Given the description of an element on the screen output the (x, y) to click on. 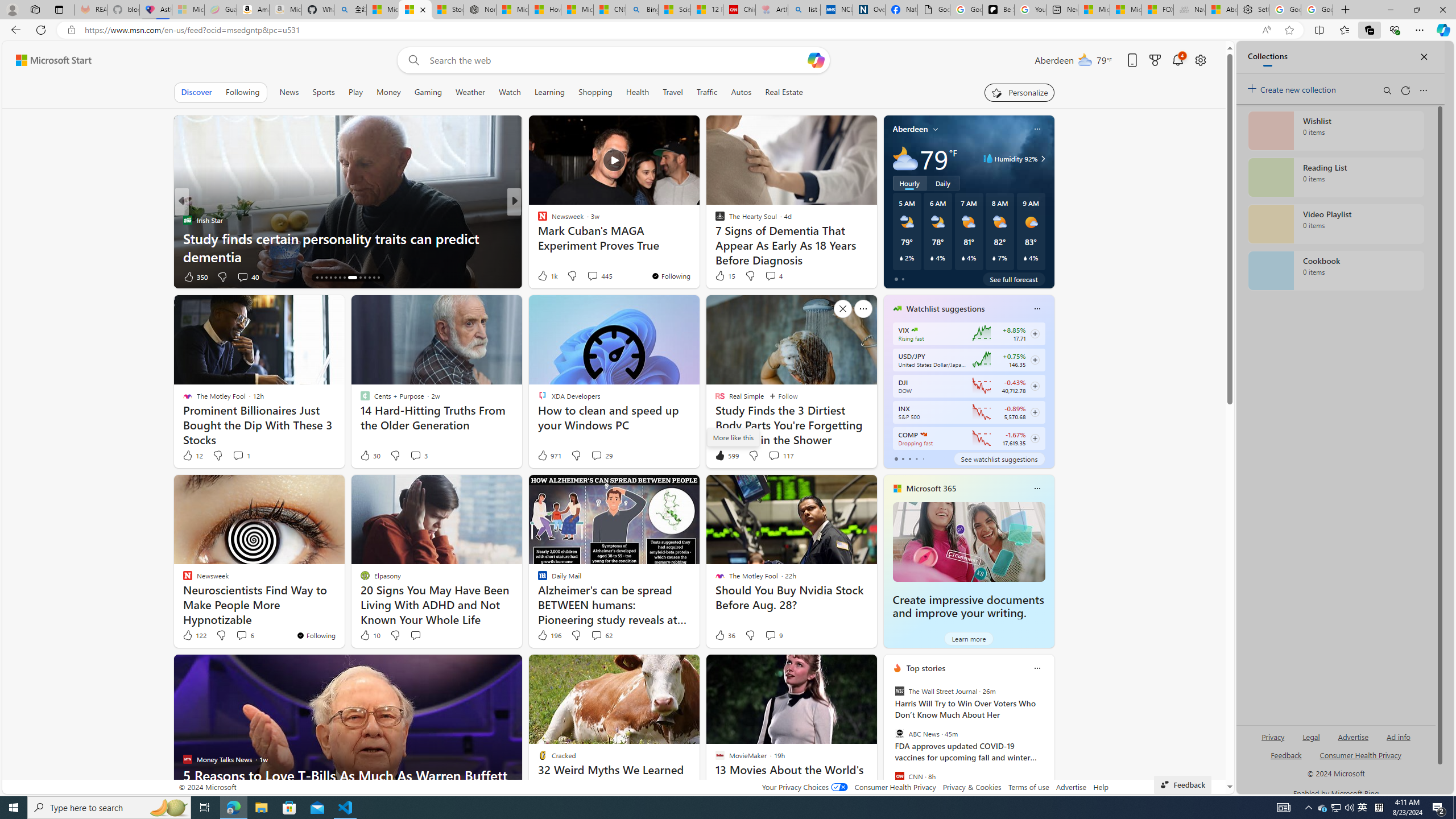
View comments 4 Comment (773, 275)
AutomationID: sb_feedback (1286, 754)
Study finds certain personality traits can predict dementia (347, 247)
View comments 29 Comment (595, 455)
View comments 13 Comment (592, 276)
